Given the description of an element on the screen output the (x, y) to click on. 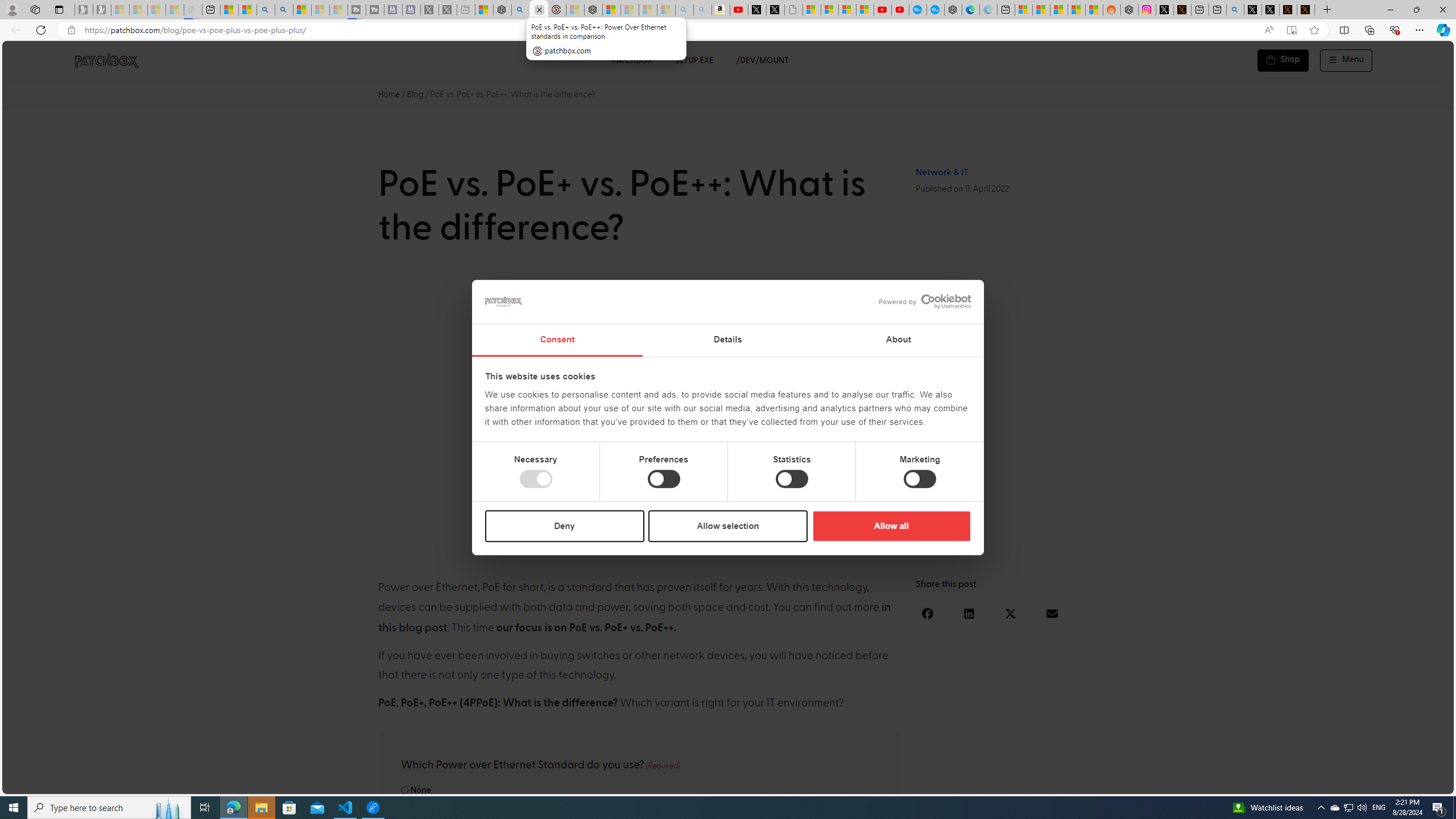
Language switcher : Danish (1311, 782)
Language switcher : Swedish (1356, 782)
Language switcher : Portuguese (1401, 782)
Network & IT (941, 171)
github - Search (1235, 9)
Amazon Echo Dot PNG - Search Images - Sleeping (702, 9)
poe - Search (520, 9)
Language switcher : Italian (1265, 782)
Statistics (791, 479)
